Given the description of an element on the screen output the (x, y) to click on. 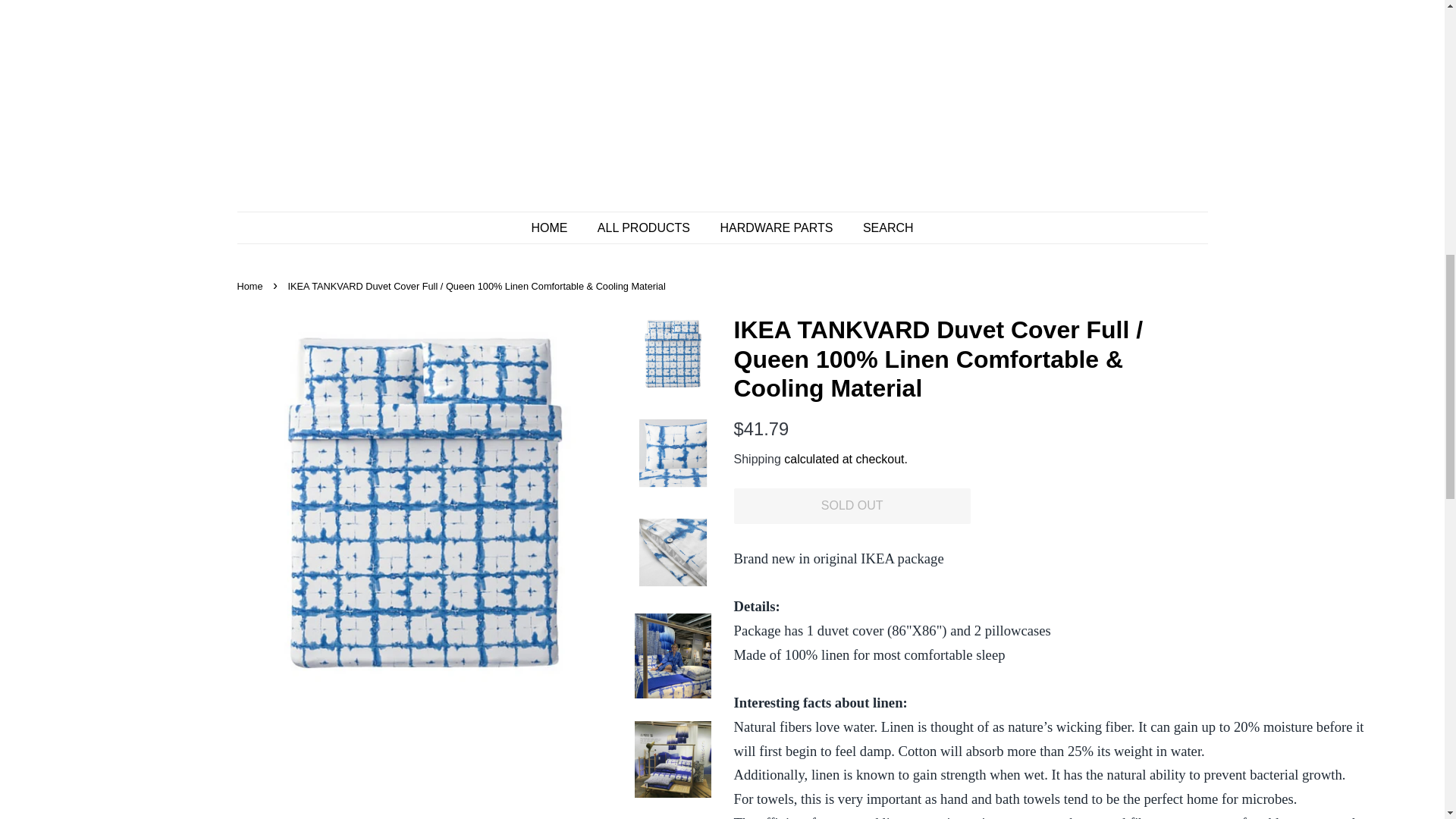
SEARCH (882, 227)
SOLD OUT (852, 506)
Back to the frontpage (250, 285)
Home (250, 285)
Shipping (756, 459)
HOME (556, 227)
HARDWARE PARTS (777, 227)
ALL PRODUCTS (645, 227)
